Given the description of an element on the screen output the (x, y) to click on. 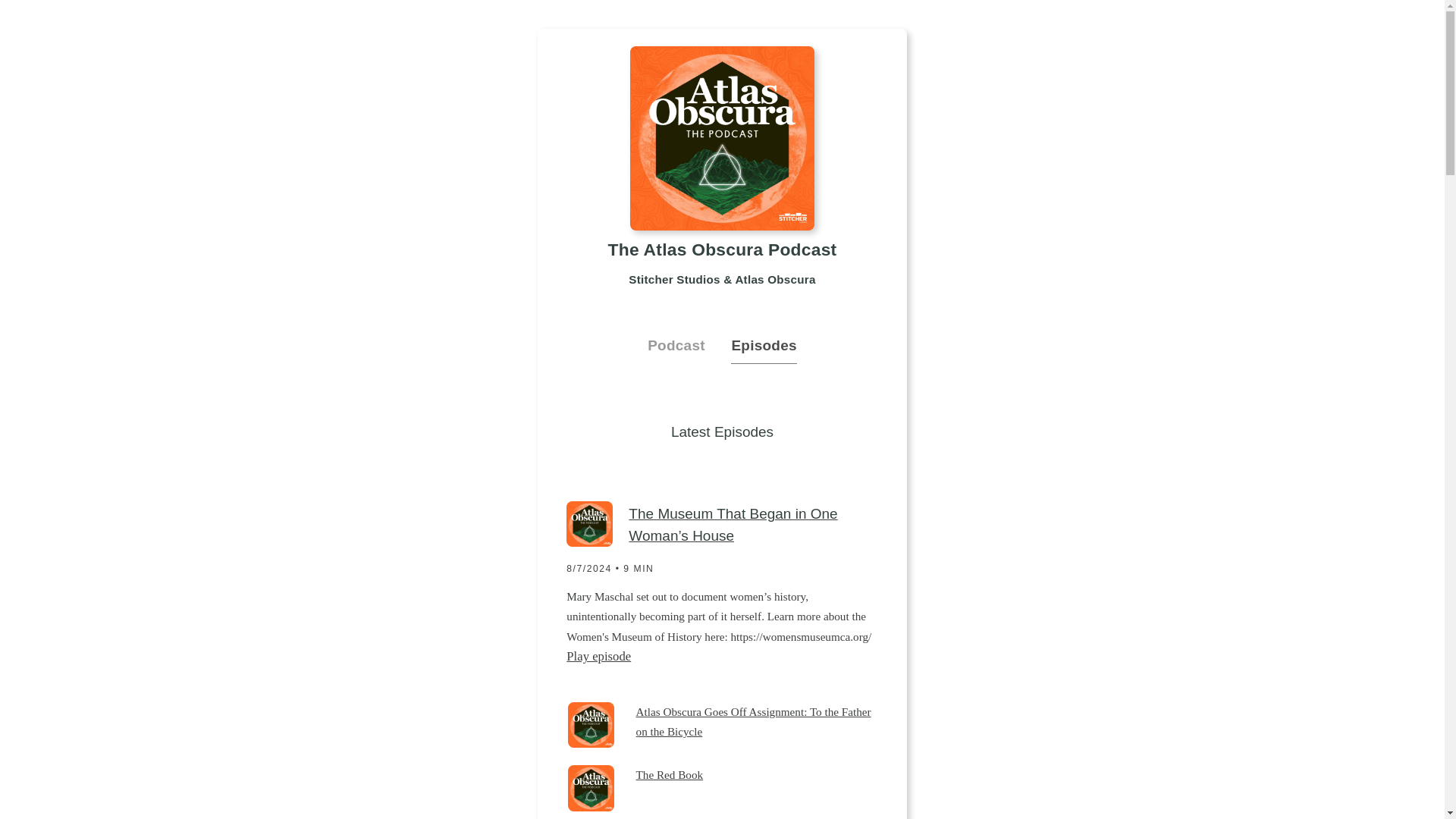
The Red Book (756, 774)
Play episode (598, 656)
Podcast (688, 345)
The Red Book (756, 774)
